Given the description of an element on the screen output the (x, y) to click on. 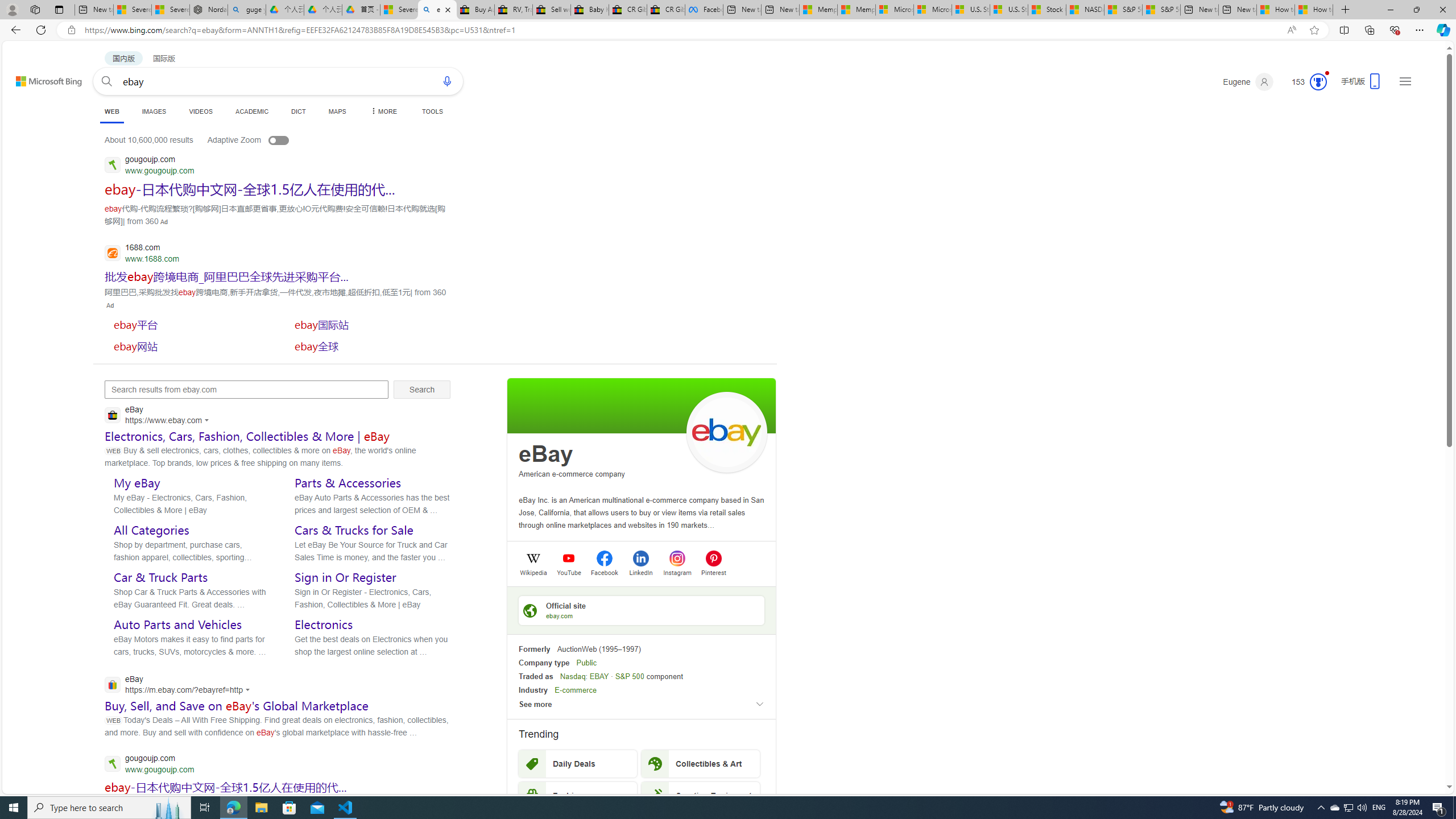
Instagram (676, 571)
SERP,5714 (188, 345)
Collectibles & Art (701, 763)
Daily Deals (577, 763)
Cars & Trucks for Sale (353, 529)
DICT (298, 111)
Public (586, 662)
